Given the description of an element on the screen output the (x, y) to click on. 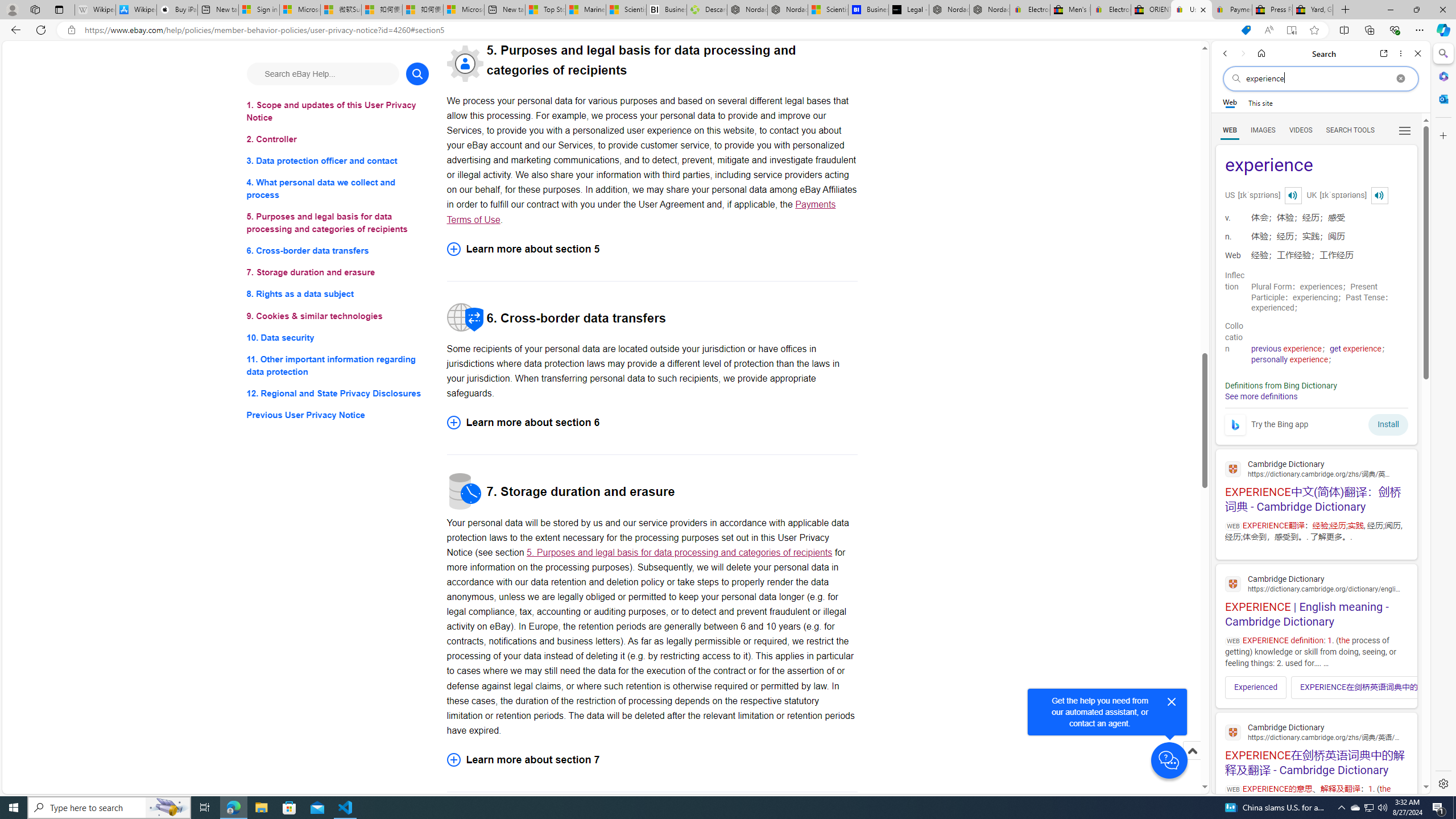
Previous User Privacy Notice (337, 414)
12. Regional and State Privacy Disclosures (337, 392)
Learn more about section 5 (651, 248)
6. Cross-border data transfers (337, 250)
6. Cross-border data transfers (337, 250)
Search eBay Help... (322, 73)
7. Storage duration and erasure (337, 272)
